Given the description of an element on the screen output the (x, y) to click on. 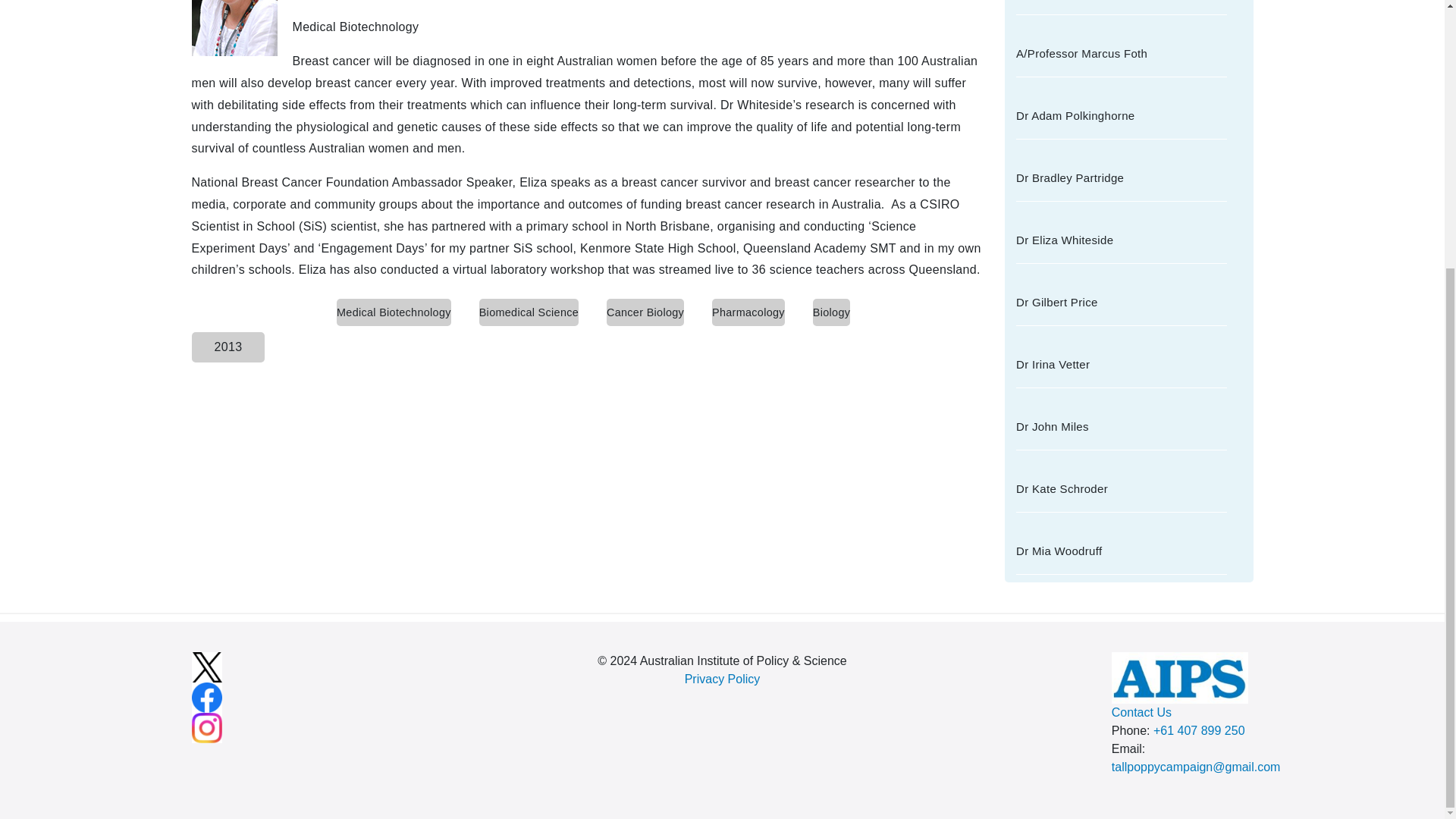
Dr Wilhelmina Huston (1121, 5)
Dr Irina Vetter (1121, 364)
Dr Adam Polkinghorne (1121, 115)
Dr John Miles (1121, 426)
Dr Bradley Partridge (1121, 177)
Dr Gilbert Price (1121, 301)
Dr Eliza Whiteside (1121, 239)
